Given the description of an element on the screen output the (x, y) to click on. 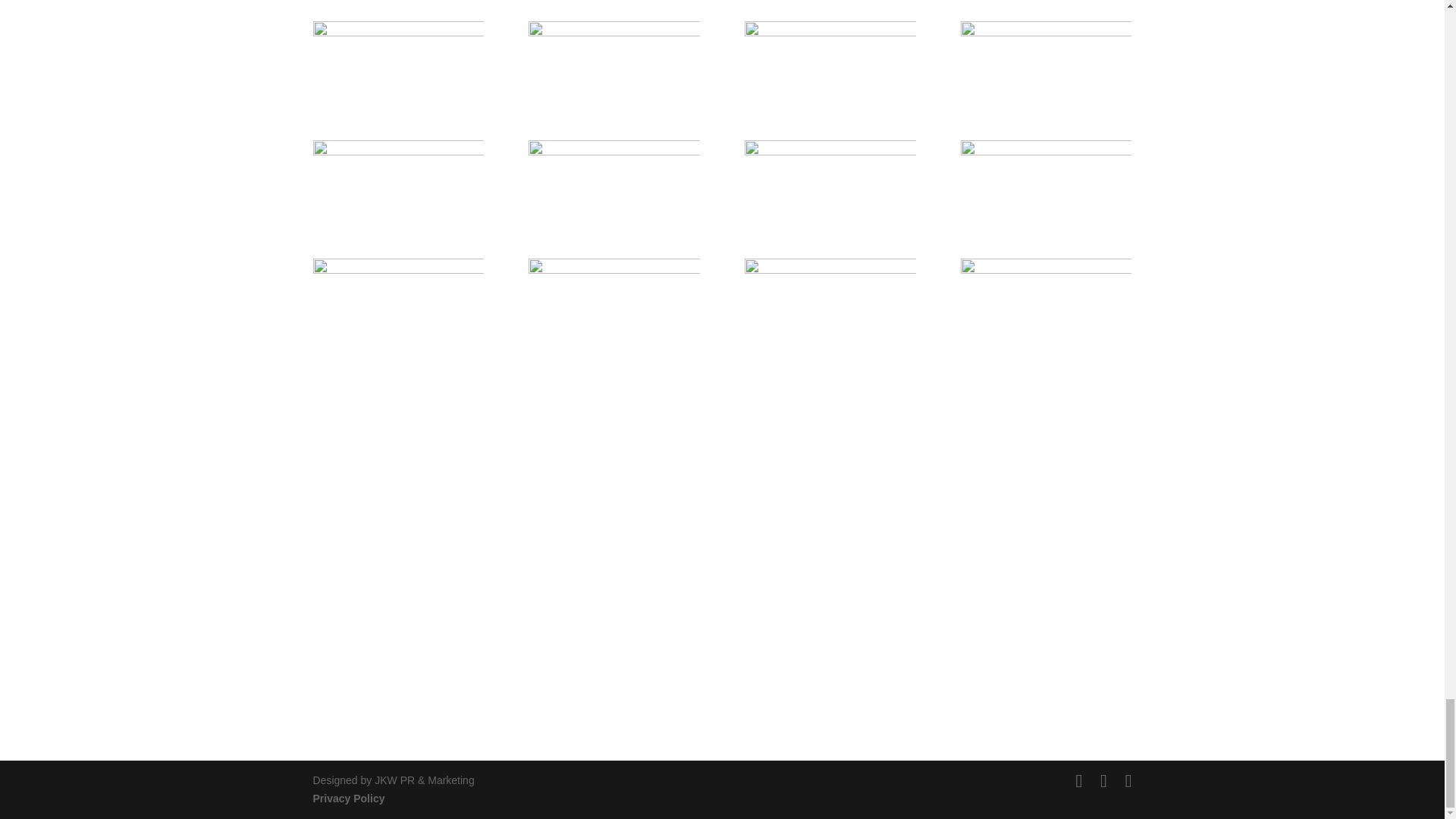
Privacy Policy (348, 798)
Continal (613, 170)
MoorgateManagement-colour (829, 51)
